Given the description of an element on the screen output the (x, y) to click on. 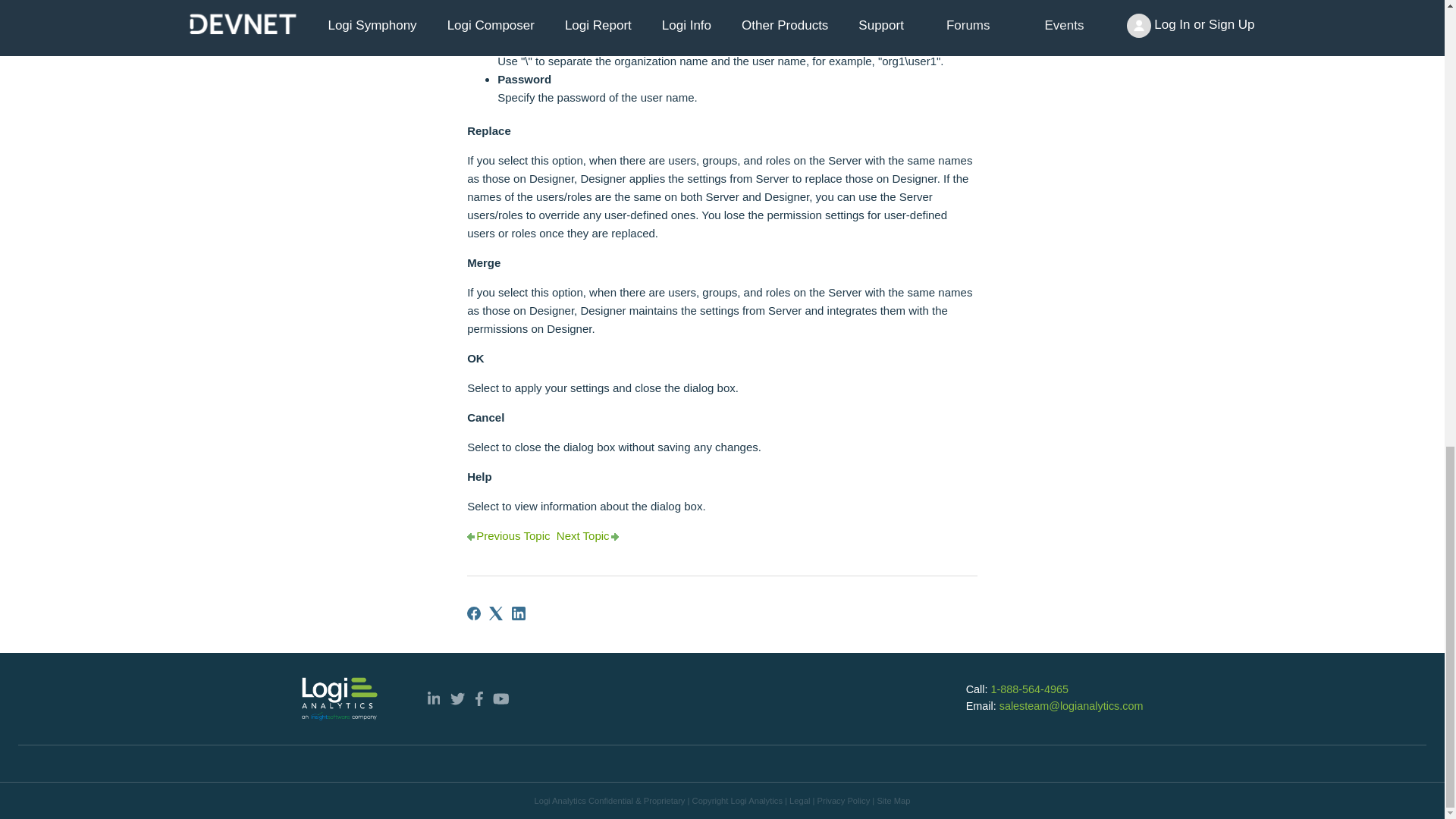
Find Logi Analytics on YouTube (501, 698)
Find Logi Analytics on Twitter (456, 698)
